Given the description of an element on the screen output the (x, y) to click on. 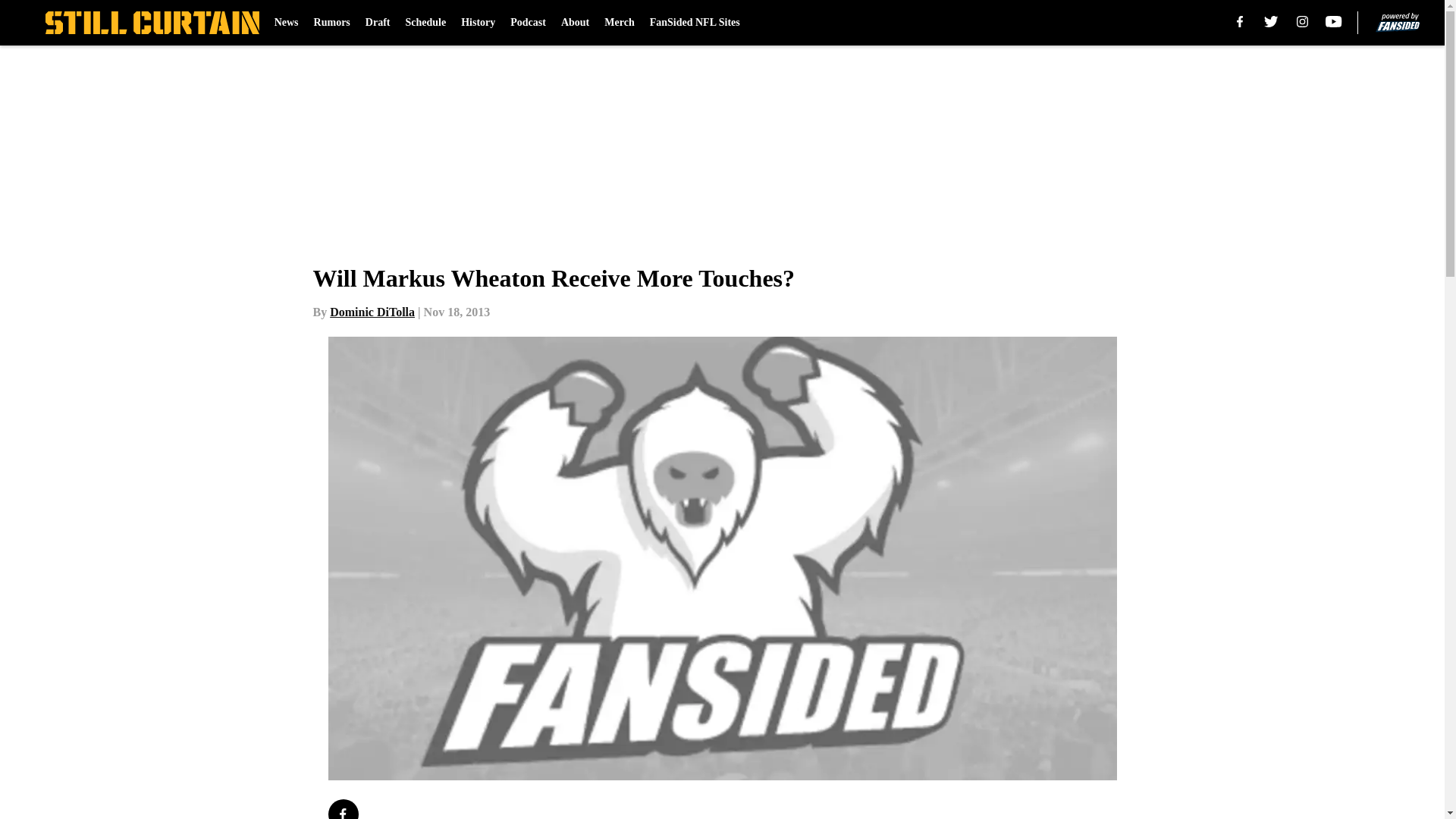
Draft (377, 22)
Merch (618, 22)
About (574, 22)
News (286, 22)
Schedule (424, 22)
Podcast (528, 22)
History (478, 22)
Rumors (332, 22)
FanSided NFL Sites (694, 22)
Dominic DiTolla (372, 311)
